Given the description of an element on the screen output the (x, y) to click on. 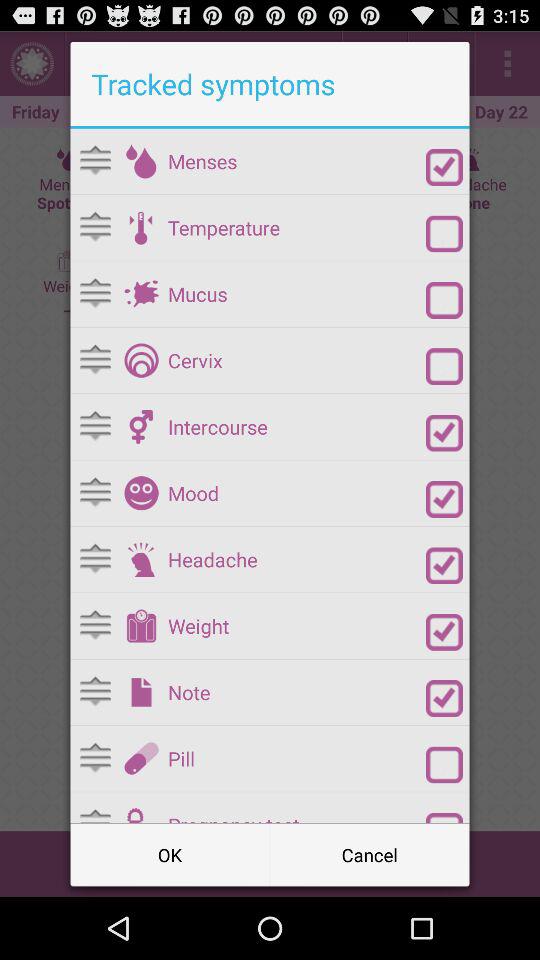
jump to the cervix icon (296, 360)
